Given the description of an element on the screen output the (x, y) to click on. 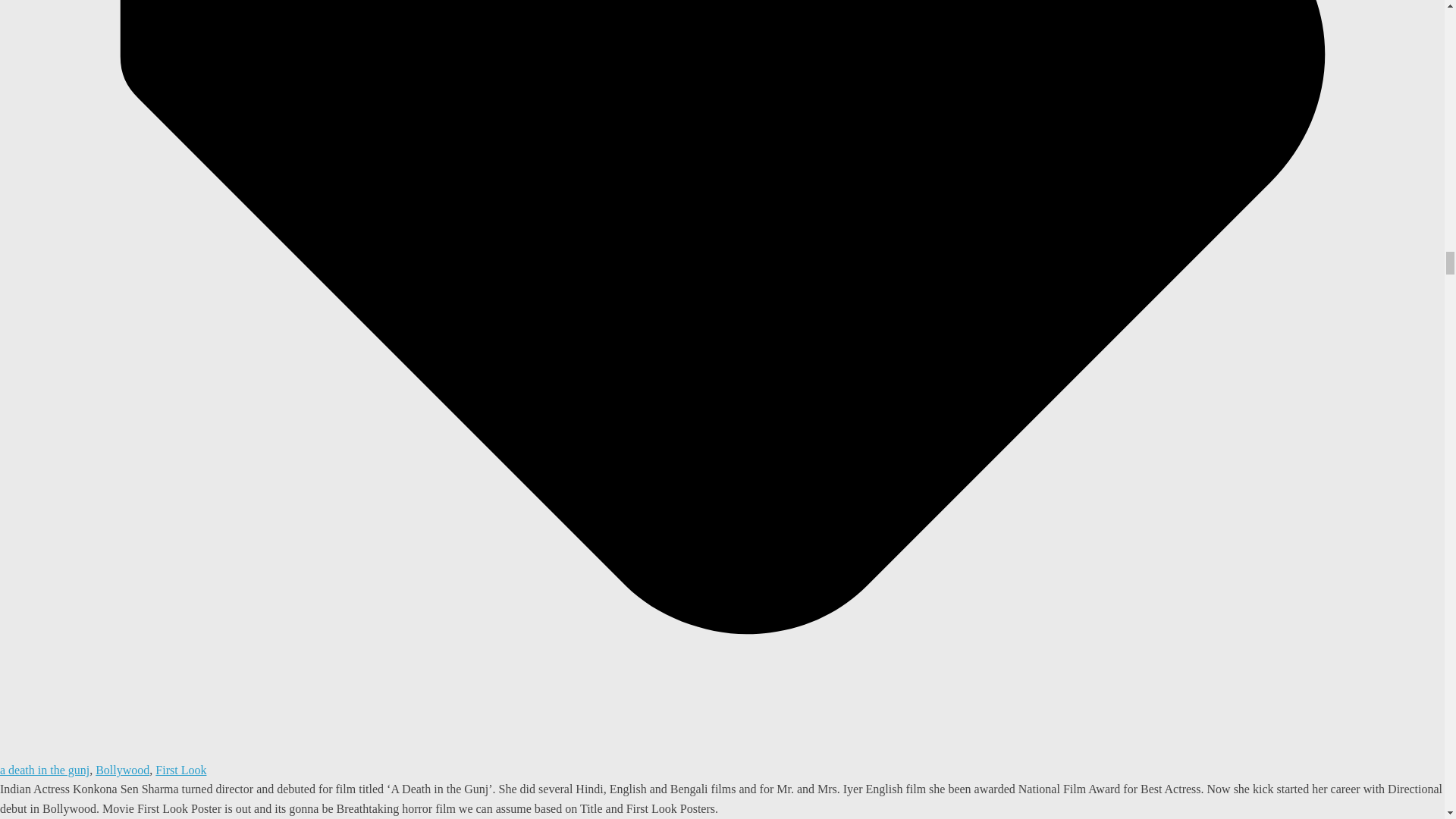
a death in the gunj (44, 769)
Bollywood (122, 769)
First Look (180, 769)
